Given the description of an element on the screen output the (x, y) to click on. 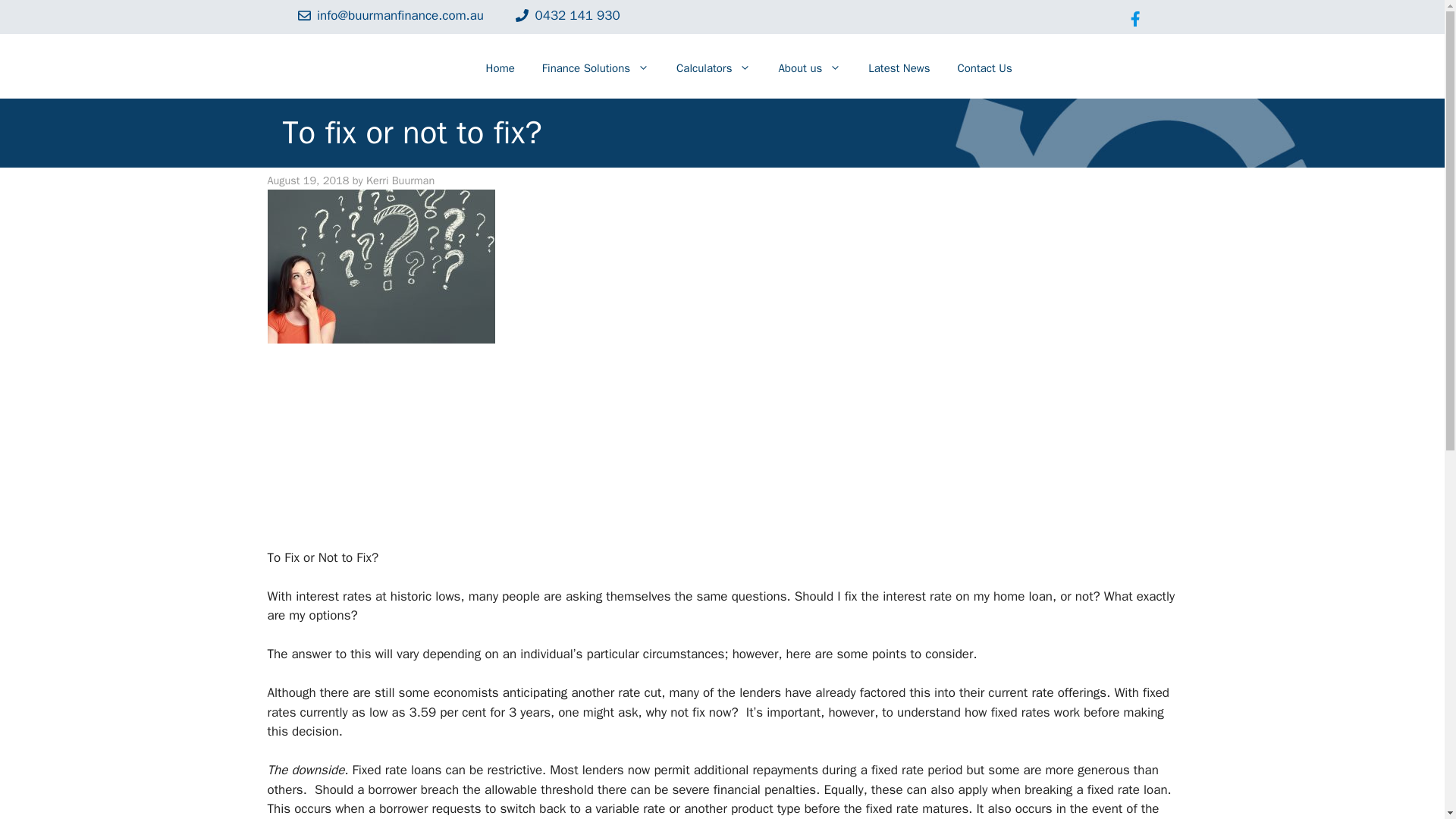
Home (499, 67)
View all posts by Kerri Buurman (399, 180)
Latest News (898, 67)
Finance Solutions (595, 67)
About us (809, 67)
Kerri Buurman (399, 180)
0432 141 930 (577, 15)
Contact Us (984, 67)
Calculators (713, 67)
